Given the description of an element on the screen output the (x, y) to click on. 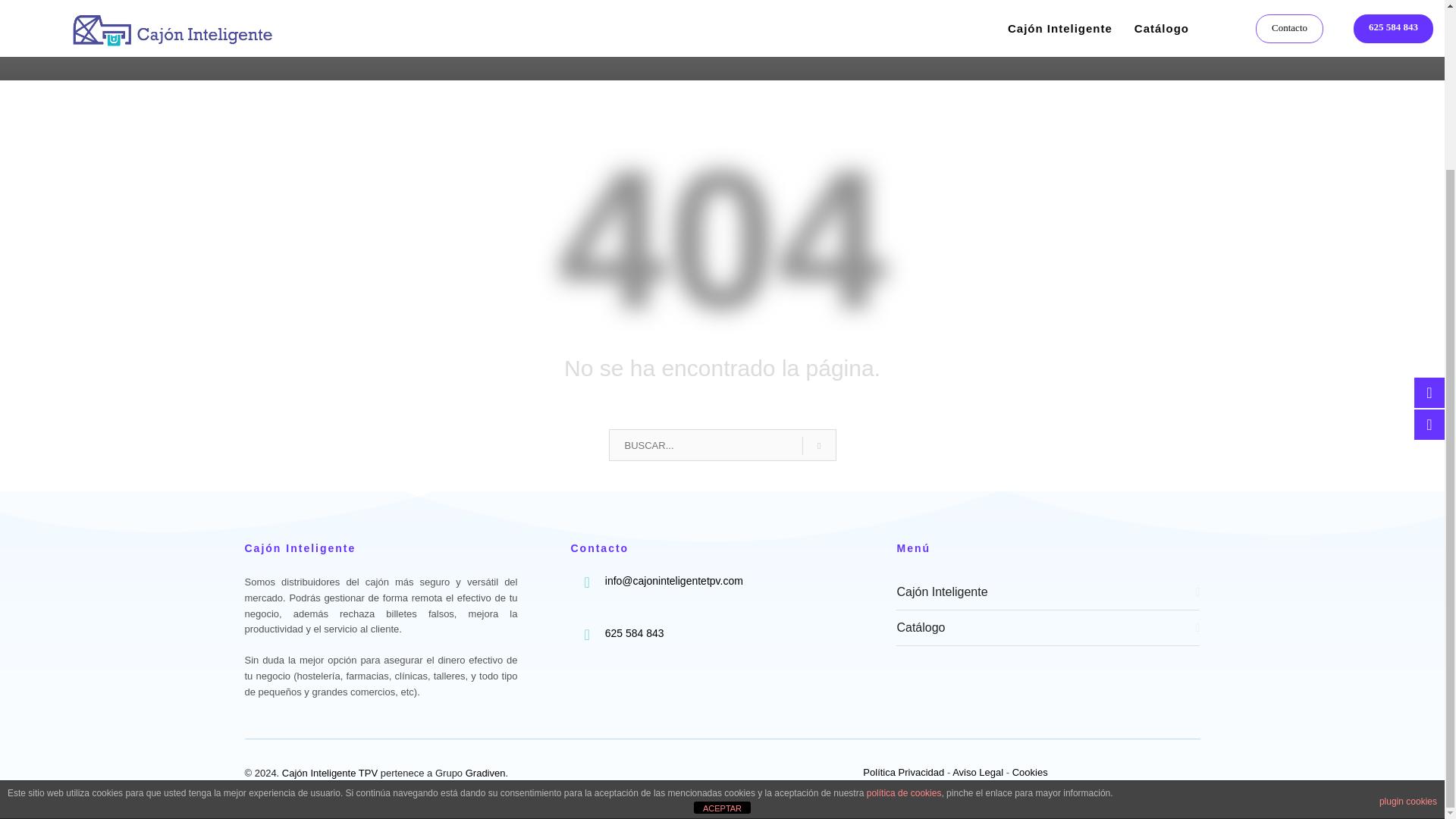
Gradiven (485, 772)
Cookies (1029, 772)
ACEPTAR (722, 603)
plugin cookies (1407, 597)
go (818, 445)
625 584 843 (634, 633)
Aviso Legal (977, 772)
